Given the description of an element on the screen output the (x, y) to click on. 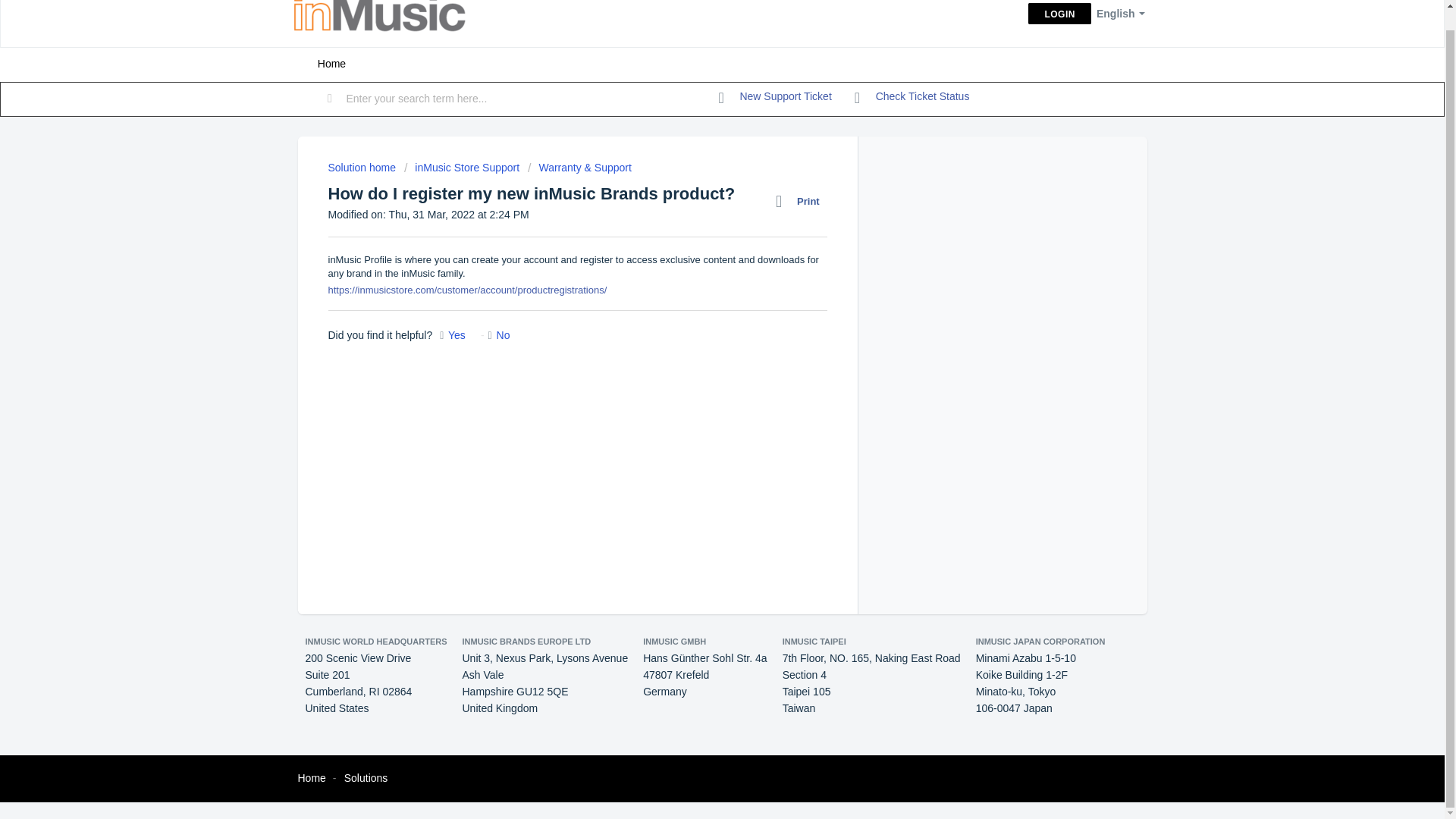
Check Ticket Status (911, 96)
Print this Article (801, 201)
inMusic Store Support (461, 167)
Print (801, 201)
New Support Ticket (775, 96)
Home (310, 777)
LOGIN (1058, 13)
Check ticket status (911, 96)
New support ticket (775, 96)
Solution home (362, 167)
